Given the description of an element on the screen output the (x, y) to click on. 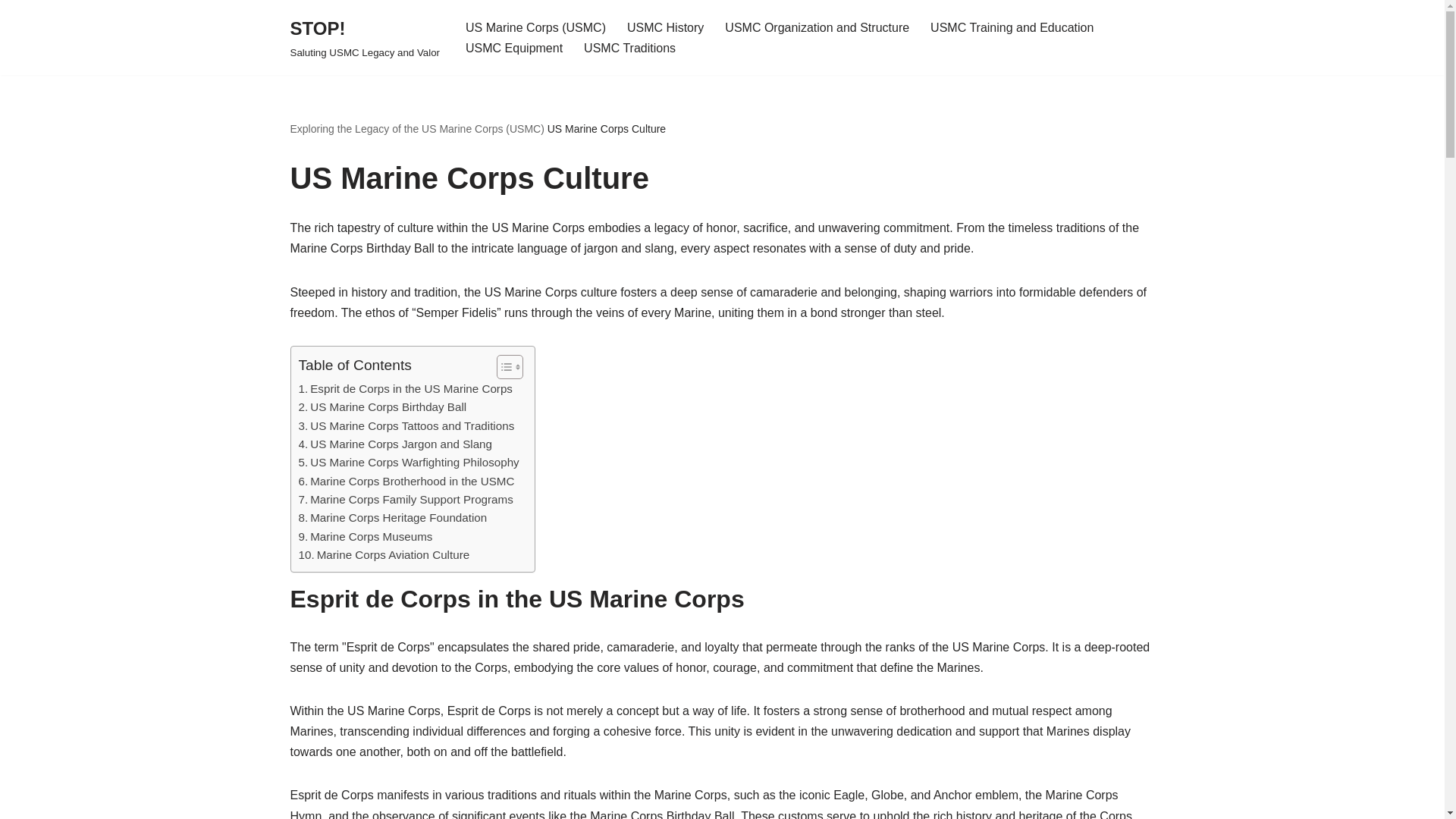
US Marine Corps Tattoos and Traditions (406, 425)
US Marine Corps Jargon and Slang (395, 443)
Marine Corps Heritage Foundation (392, 517)
Marine Corps Family Support Programs (405, 499)
Marine Corps Museums (365, 536)
Esprit de Corps in the US Marine Corps (405, 389)
US Marine Corps Birthday Ball (382, 407)
Marine Corps Family Support Programs (405, 499)
US Marine Corps Warfighting Philosophy (408, 462)
Marine Corps Brotherhood in the USMC (406, 481)
USMC History (665, 27)
US Marine Corps Jargon and Slang (395, 443)
Esprit de Corps in the US Marine Corps (405, 389)
USMC Training and Education (1011, 27)
Skip to content (11, 31)
